Given the description of an element on the screen output the (x, y) to click on. 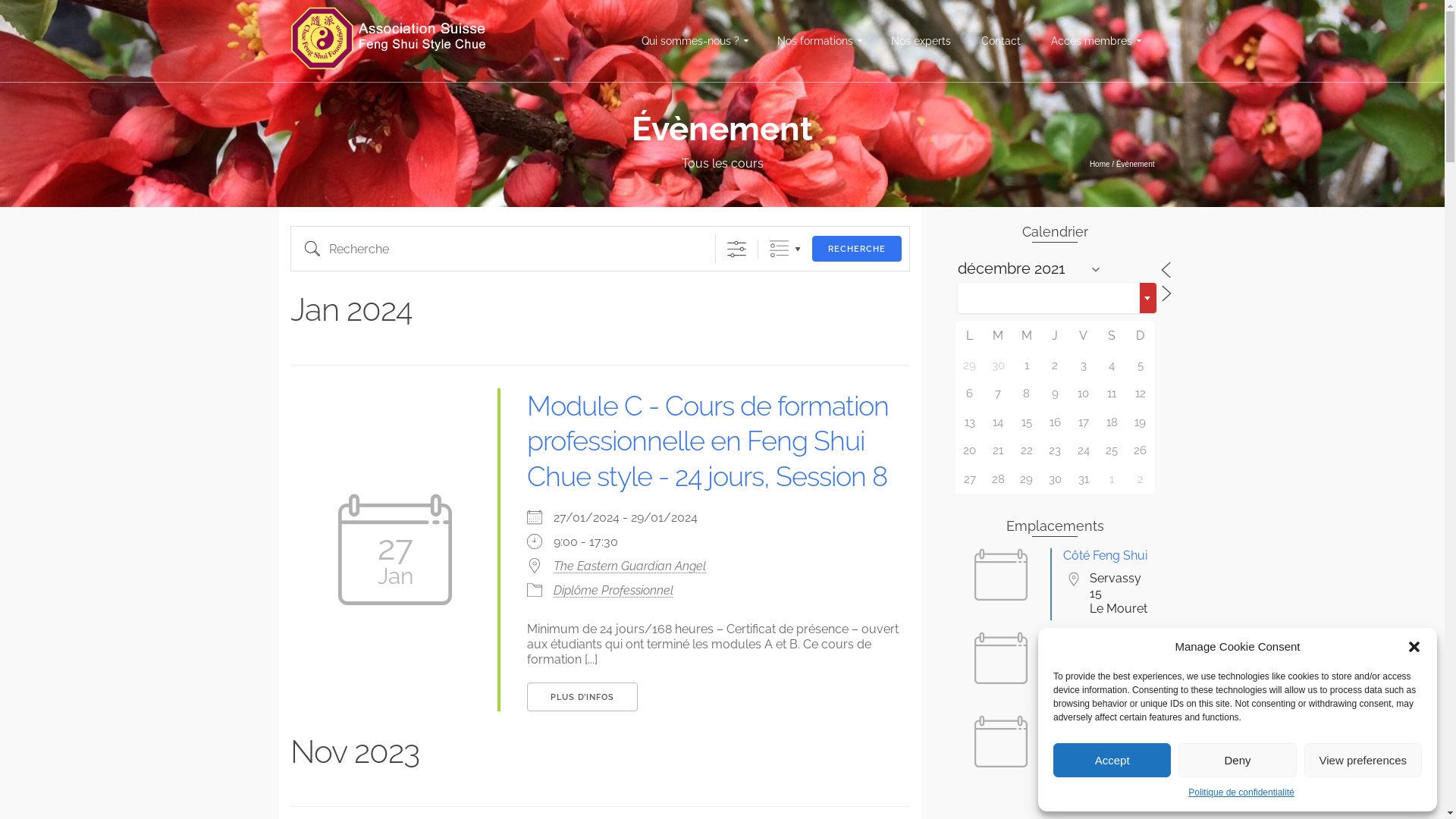
Contact Element type: text (1000, 40)
Deny Element type: text (1236, 760)
The Eastern Guardian Angel Element type: text (726, 566)
RECHERCHE Element type: text (856, 248)
Accept Element type: text (1111, 760)
Qui sommes-nous ? Element type: text (694, 40)
View preferences Element type: text (1362, 760)
Nos formations Element type: text (818, 40)
Home Element type: text (1099, 164)
The Eastern Guardian Angel Element type: text (1106, 728)
Nos experts Element type: text (920, 40)
ARCHIDO Element type: text (1090, 637)
